Given the description of an element on the screen output the (x, y) to click on. 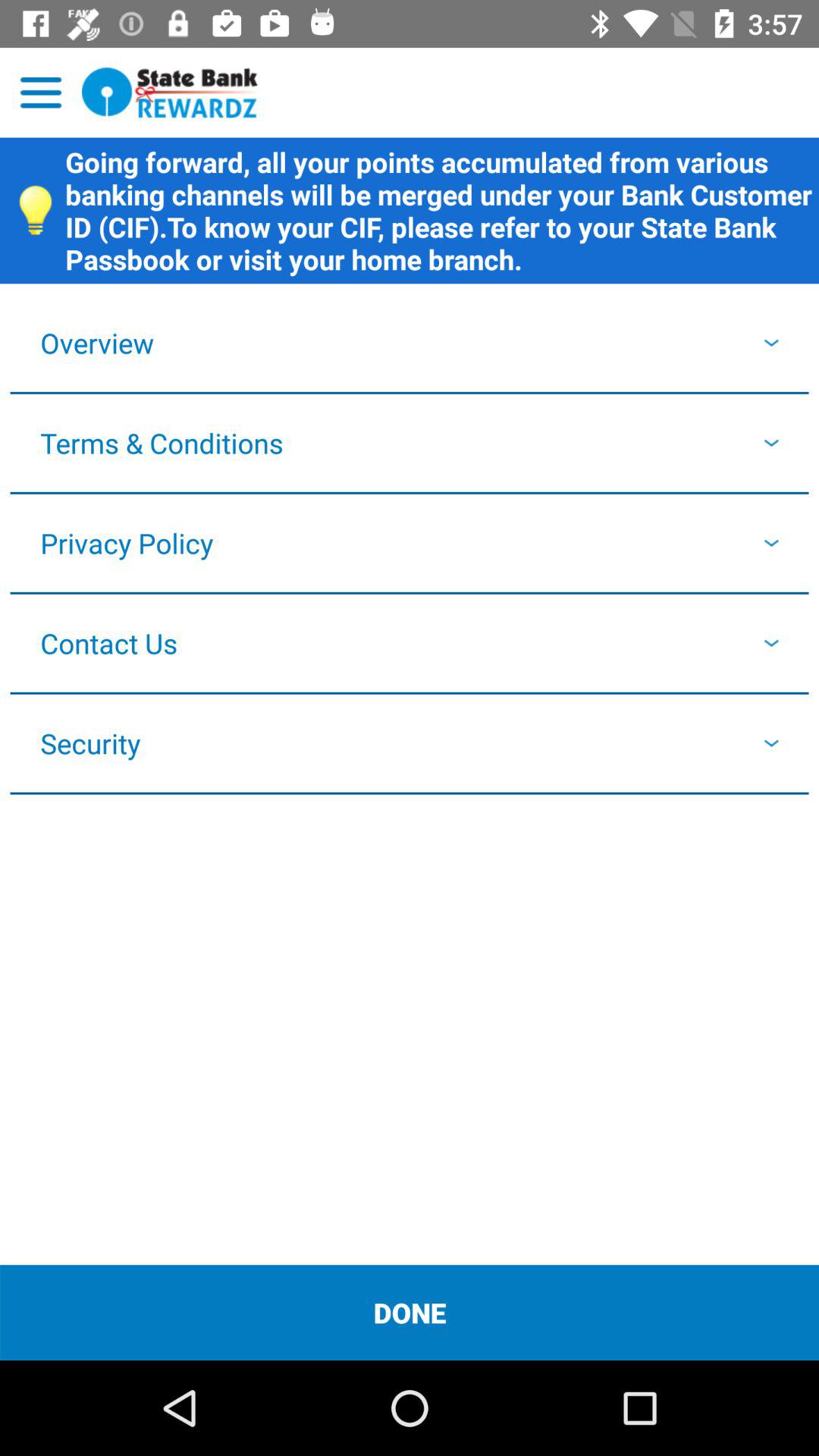
find a different part of the app (40, 92)
